Given the description of an element on the screen output the (x, y) to click on. 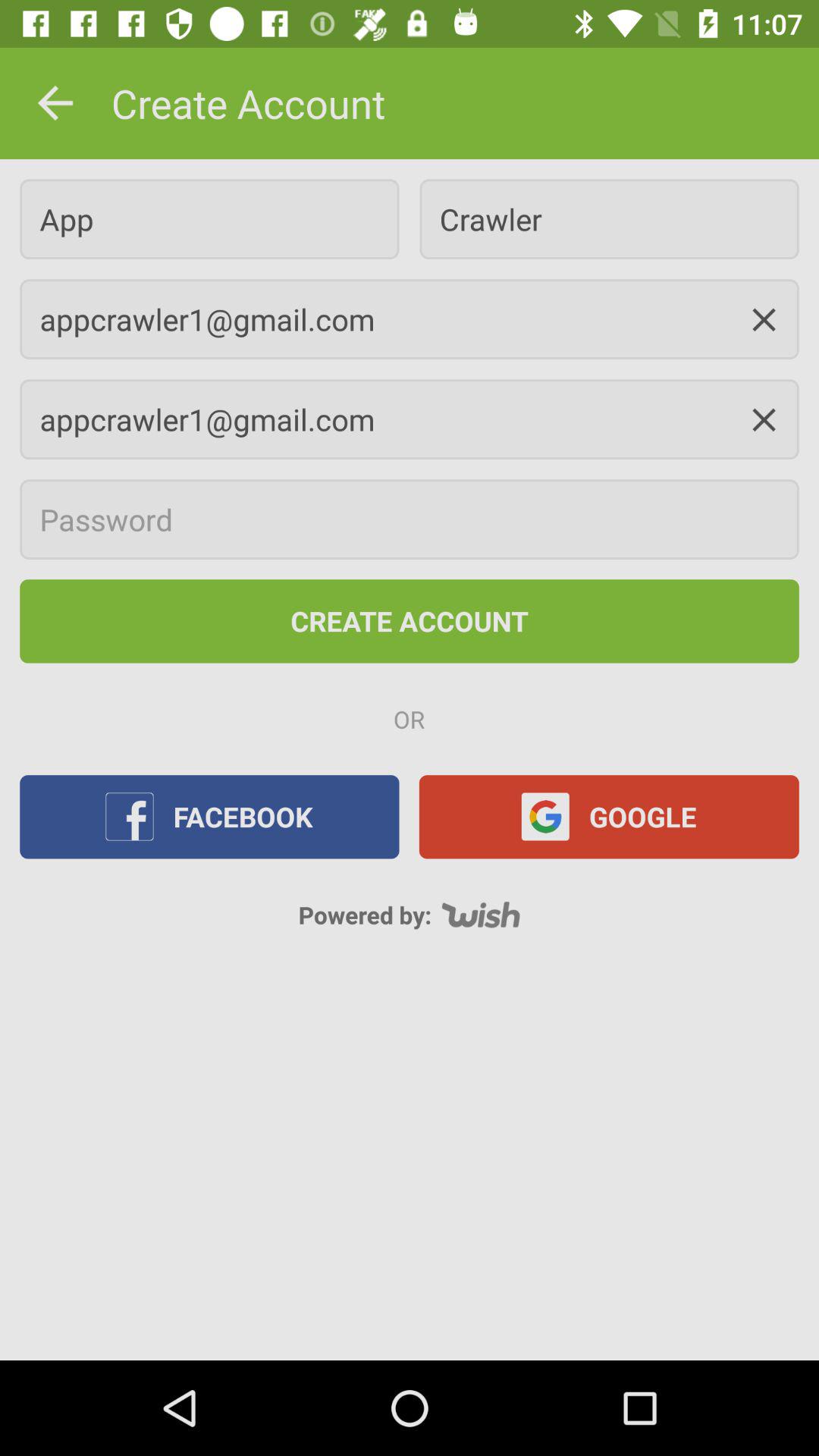
press item to the left of crawler icon (209, 219)
